Given the description of an element on the screen output the (x, y) to click on. 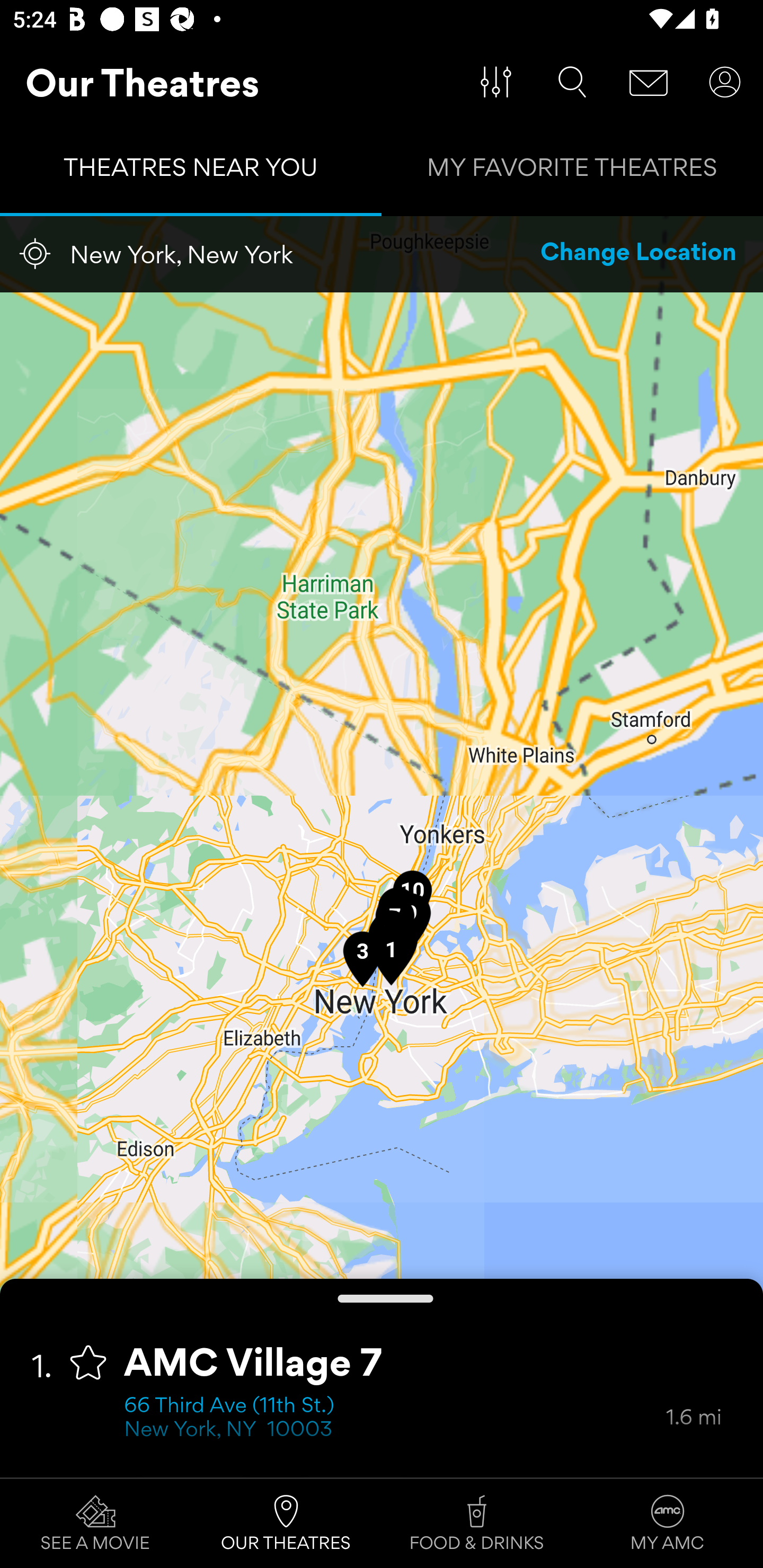
Filter Theatres (495, 82)
Search (572, 82)
Message Center (648, 82)
User Account (724, 82)
THEATRES NEAR YOU
Tab 1 of 2 (190, 171)
MY FAVORITE THEATRES
Tab 2 of 2 (572, 171)
Change Location (639, 253)
66 Third Ave (11th St.)  
New York, NY  10003 (394, 1418)
SEE A MOVIE
Tab 1 of 4 (95, 1523)
OUR THEATRES
Tab 2 of 4 (285, 1523)
FOOD & DRINKS
Tab 3 of 4 (476, 1523)
MY AMC
Tab 4 of 4 (667, 1523)
